Given the description of an element on the screen output the (x, y) to click on. 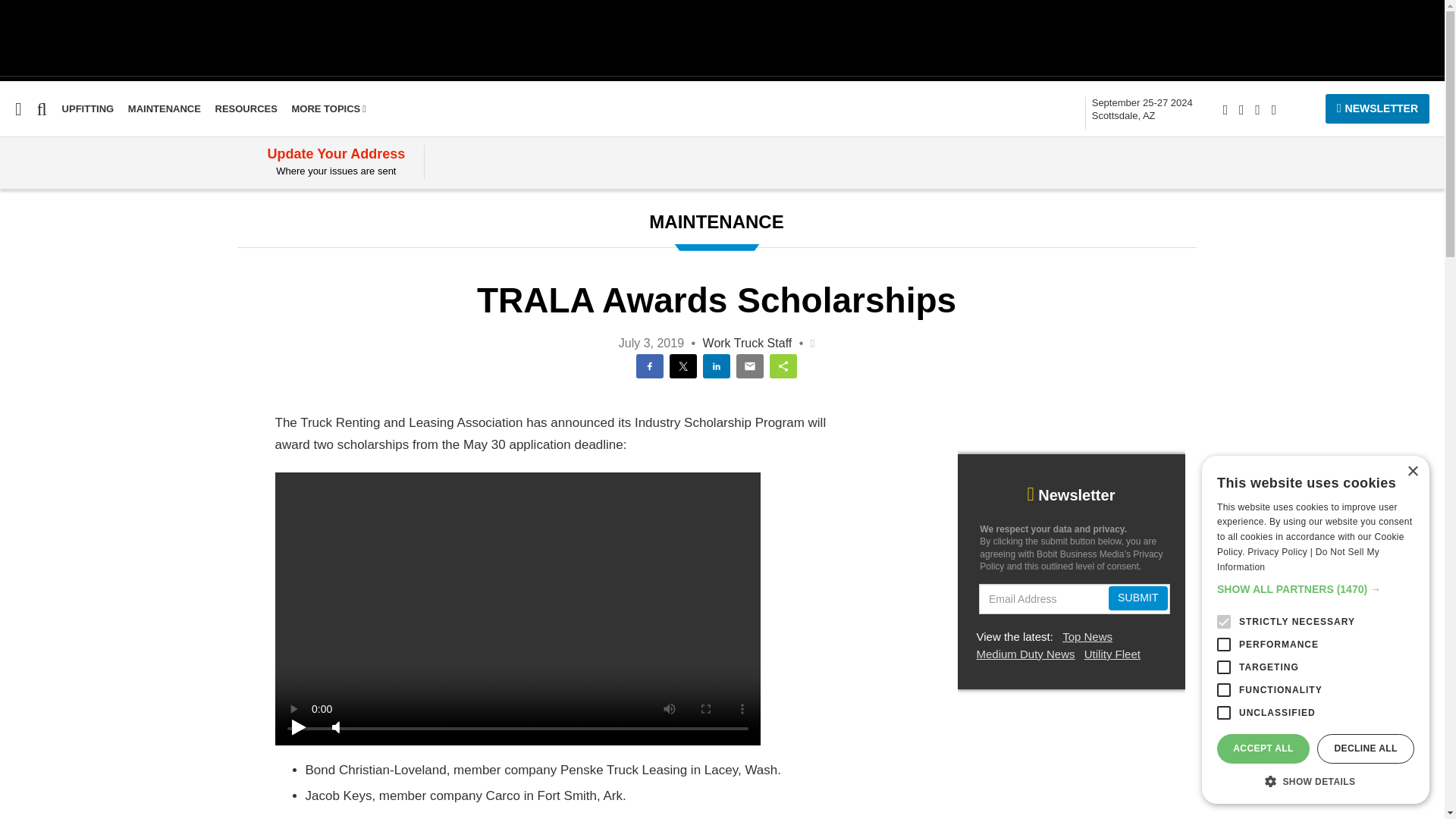
Home (16, 206)
Telematics (31, 323)
Upfitting (1142, 109)
September 25-27 2024 (24, 351)
Fuel (1142, 109)
UPFITTING (11, 236)
MAINTENANCE (88, 108)
Safety (164, 108)
Resources (17, 293)
Telematics (246, 108)
MORE TOPICS (31, 323)
Fuel (328, 108)
Upfitting (11, 236)
Maintenance (88, 108)
